Given the description of an element on the screen output the (x, y) to click on. 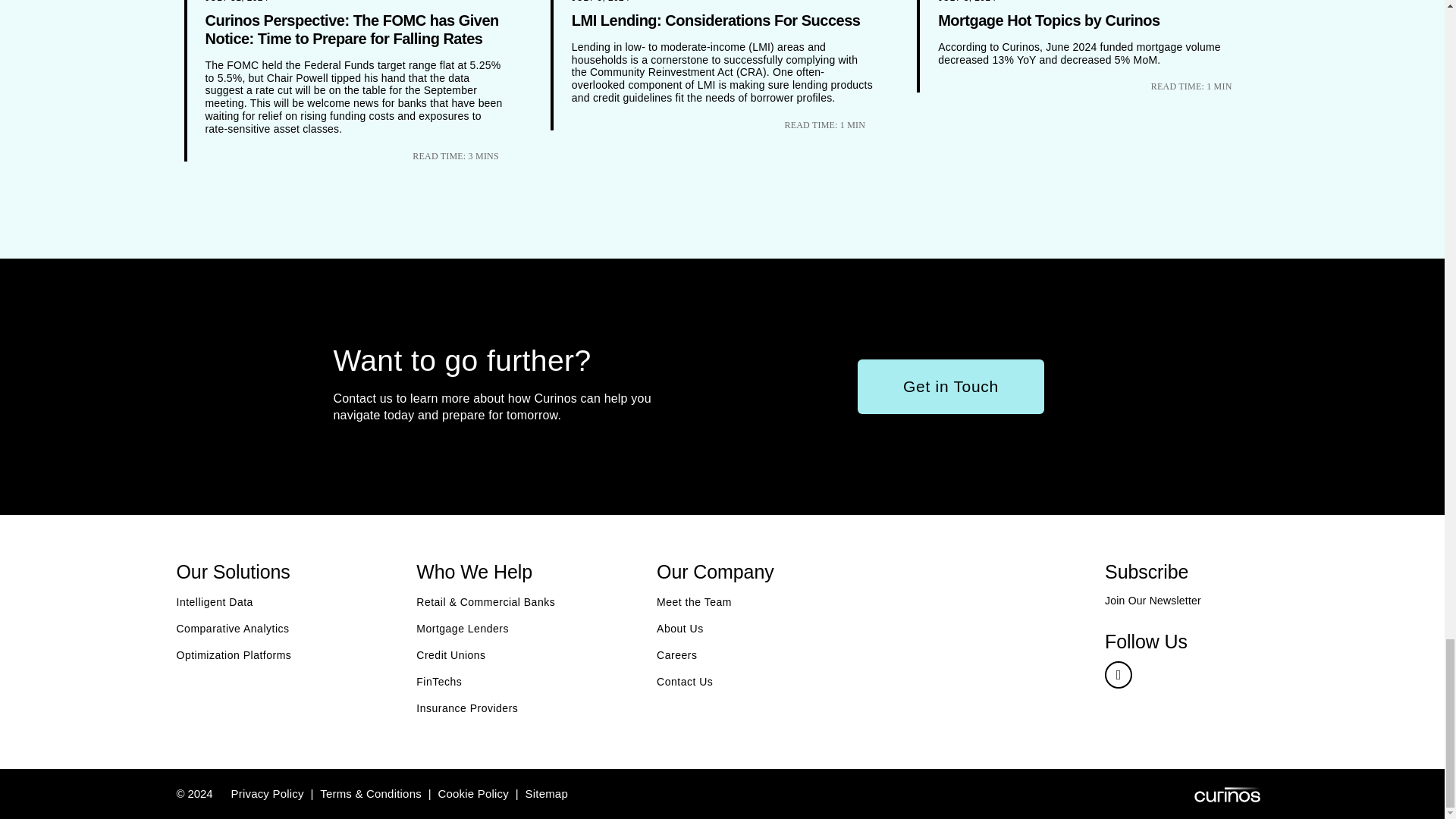
Comparative Analytics (232, 630)
FinTechs (438, 683)
Mortgage Lenders (462, 630)
Privacy Policy (266, 793)
Optimization Platforms (233, 656)
Credit Unions (450, 656)
Get in Touch (950, 386)
Meet the Team (694, 603)
Intelligent Data (213, 603)
Contact Us (684, 683)
